Given the description of an element on the screen output the (x, y) to click on. 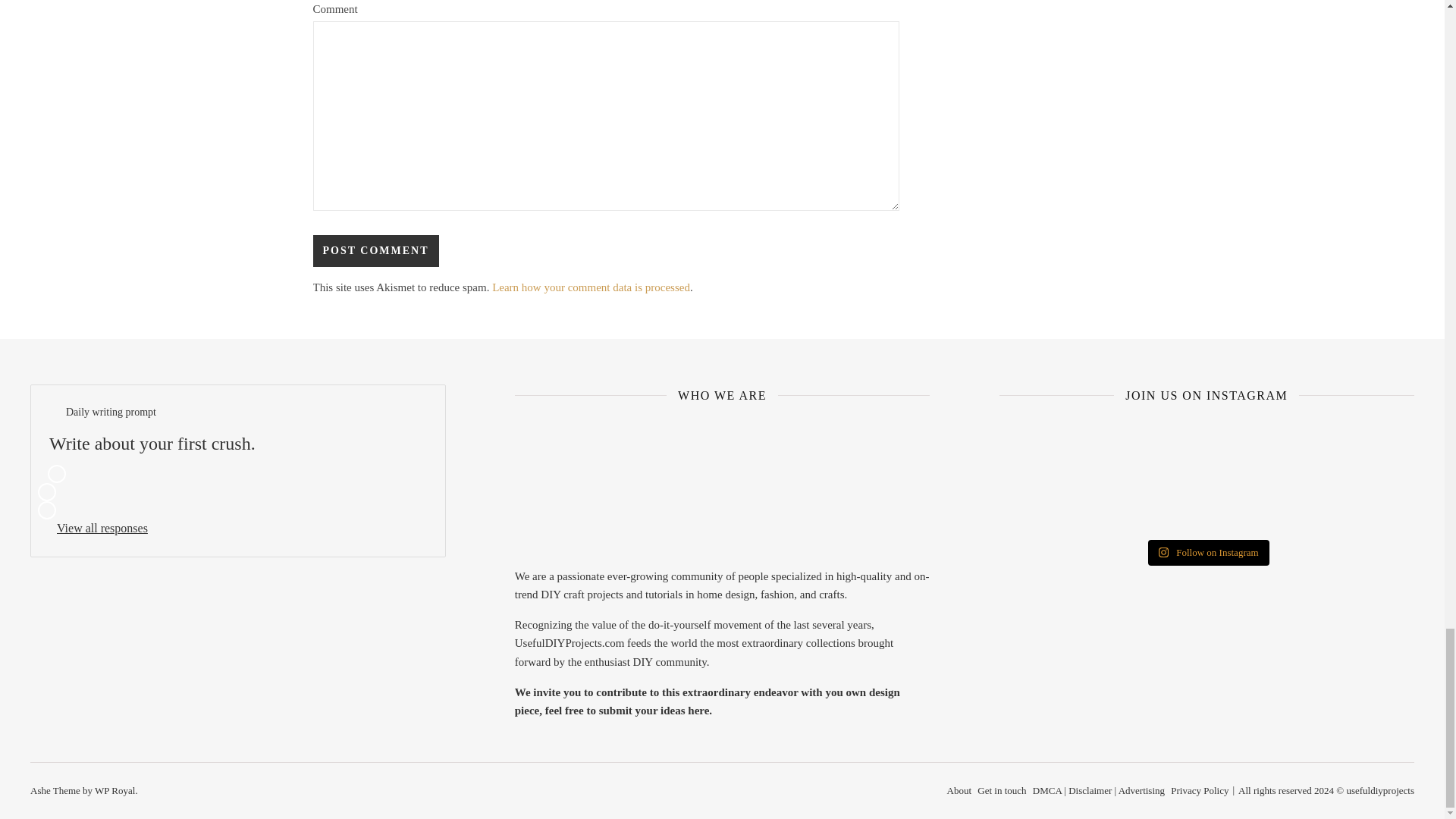
Post Comment (375, 250)
